Given the description of an element on the screen output the (x, y) to click on. 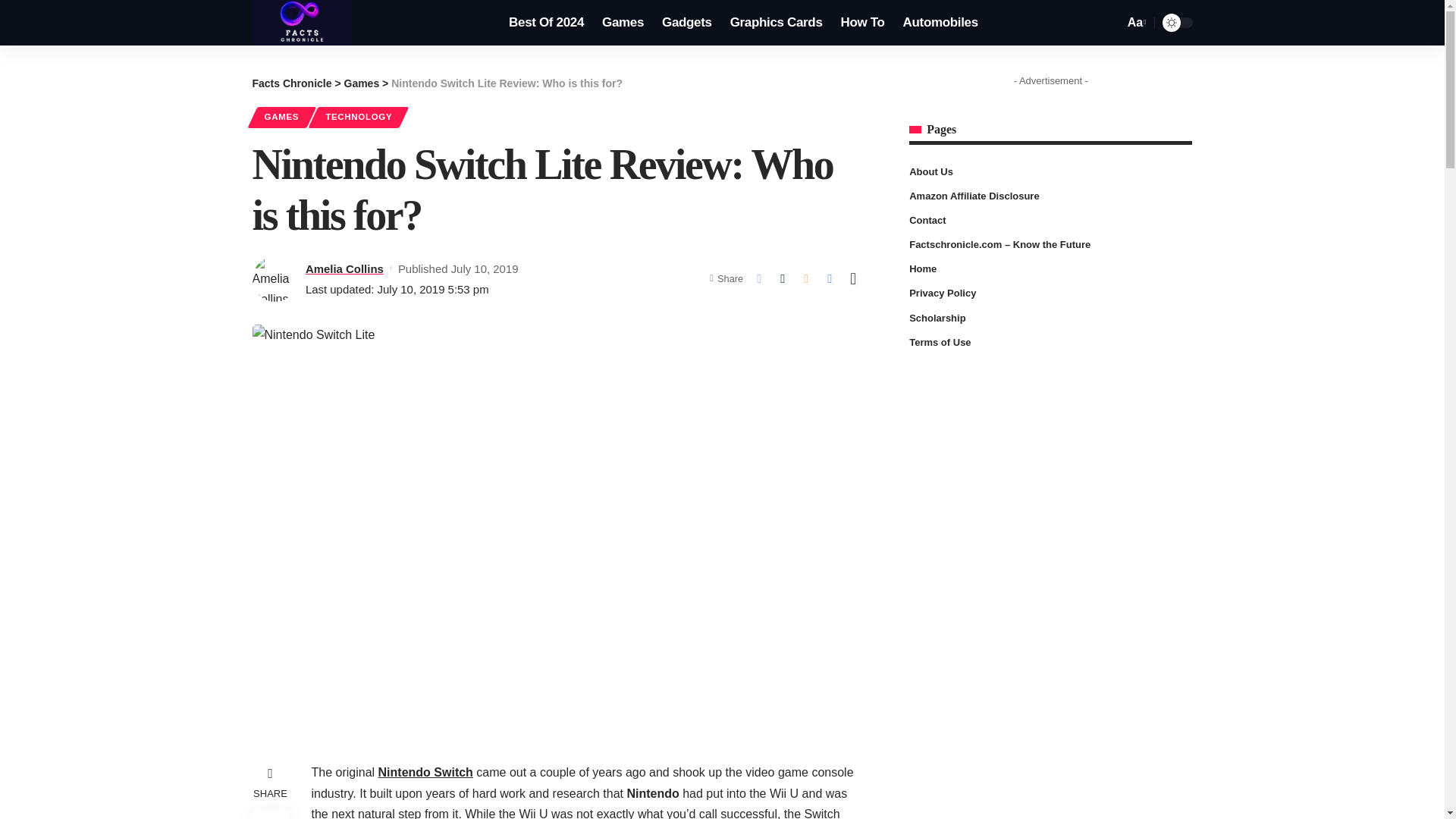
Games (361, 82)
Games (622, 22)
Amelia Collins (344, 268)
Aa (1135, 22)
TECHNOLOGY (358, 117)
Gadgets (686, 22)
Go to Facts Chronicle. (291, 82)
Automobiles (940, 22)
Go to the Games Category archives. (361, 82)
GAMES (281, 117)
How To (862, 22)
Facts Chronicle (301, 22)
Graphics Cards (775, 22)
Best Of 2024 (545, 22)
Facts Chronicle (291, 82)
